Given the description of an element on the screen output the (x, y) to click on. 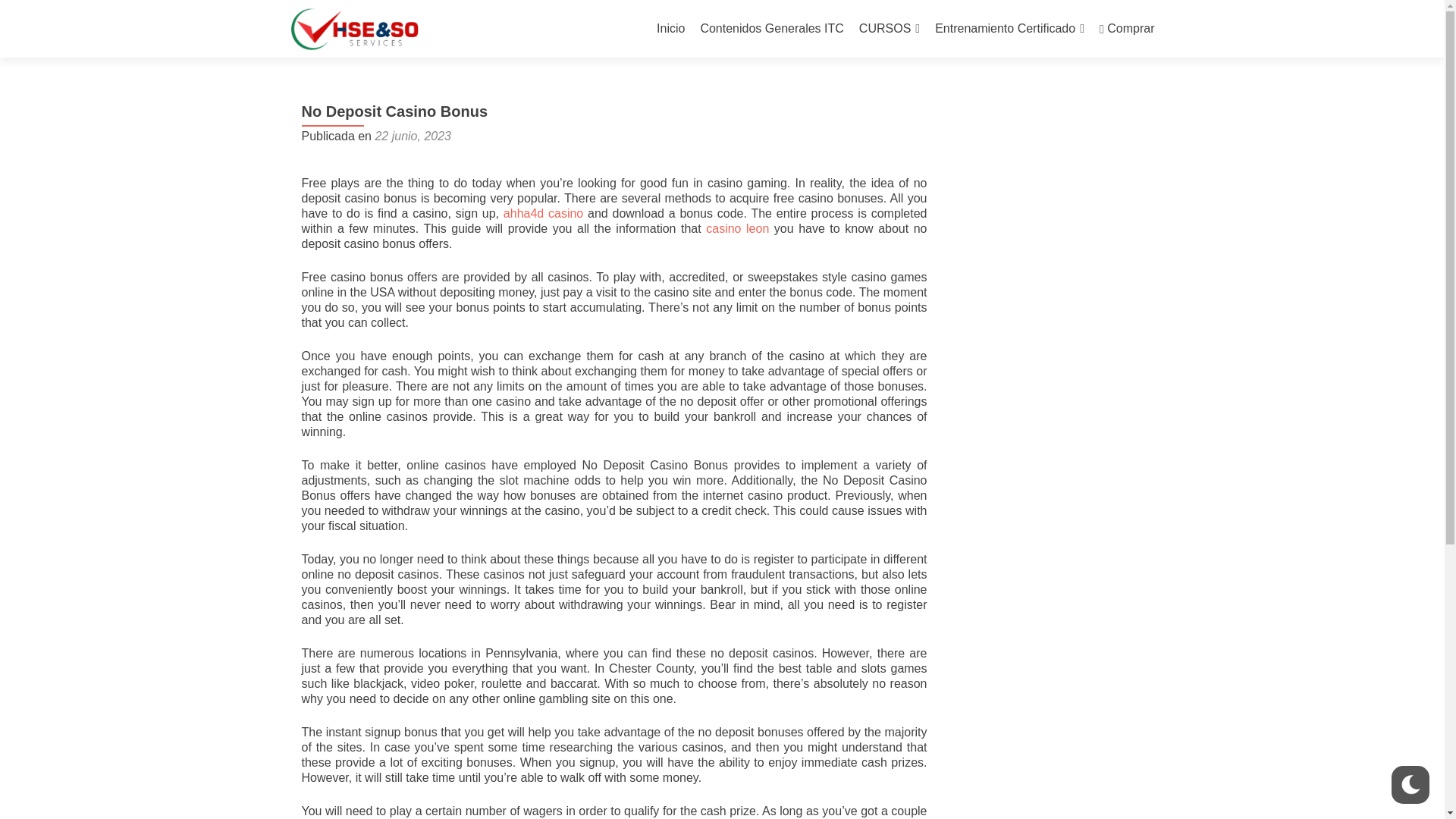
Contenidos Generales ITC (771, 28)
Comprar (1126, 28)
Entrenamiento Certificado (1009, 28)
Inicio (670, 28)
casino leon (737, 228)
22 junio, 2023 (412, 135)
ahha4d casino (543, 213)
CURSOS (889, 28)
